Given the description of an element on the screen output the (x, y) to click on. 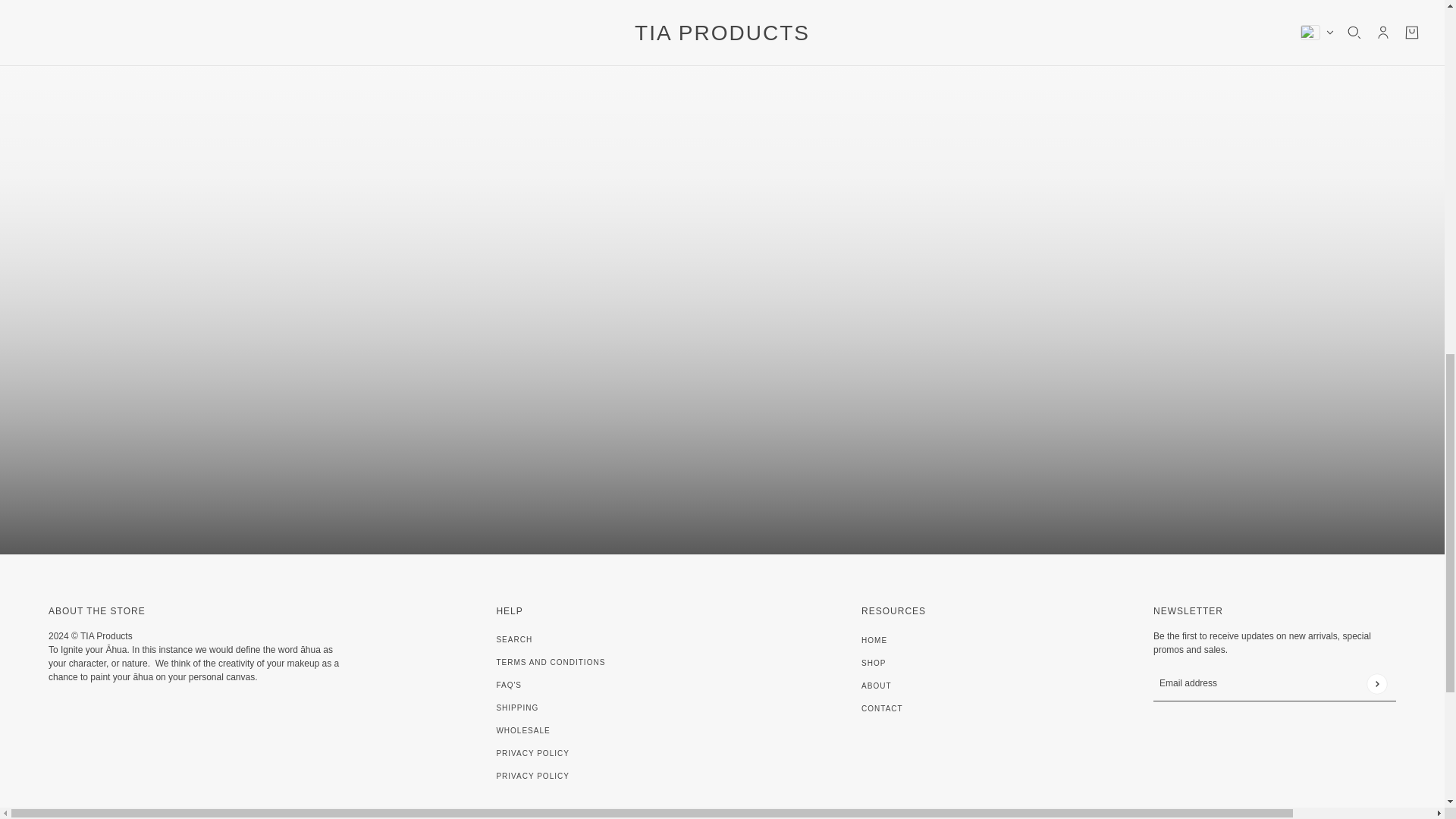
Shipping (517, 707)
Privacy Policy (532, 753)
Wholesale (523, 730)
Home (873, 640)
Shop (873, 663)
Contact  (881, 708)
FAQ's (508, 684)
Privacy policy (532, 776)
Terms and Conditions (550, 662)
About  (876, 685)
